Given the description of an element on the screen output the (x, y) to click on. 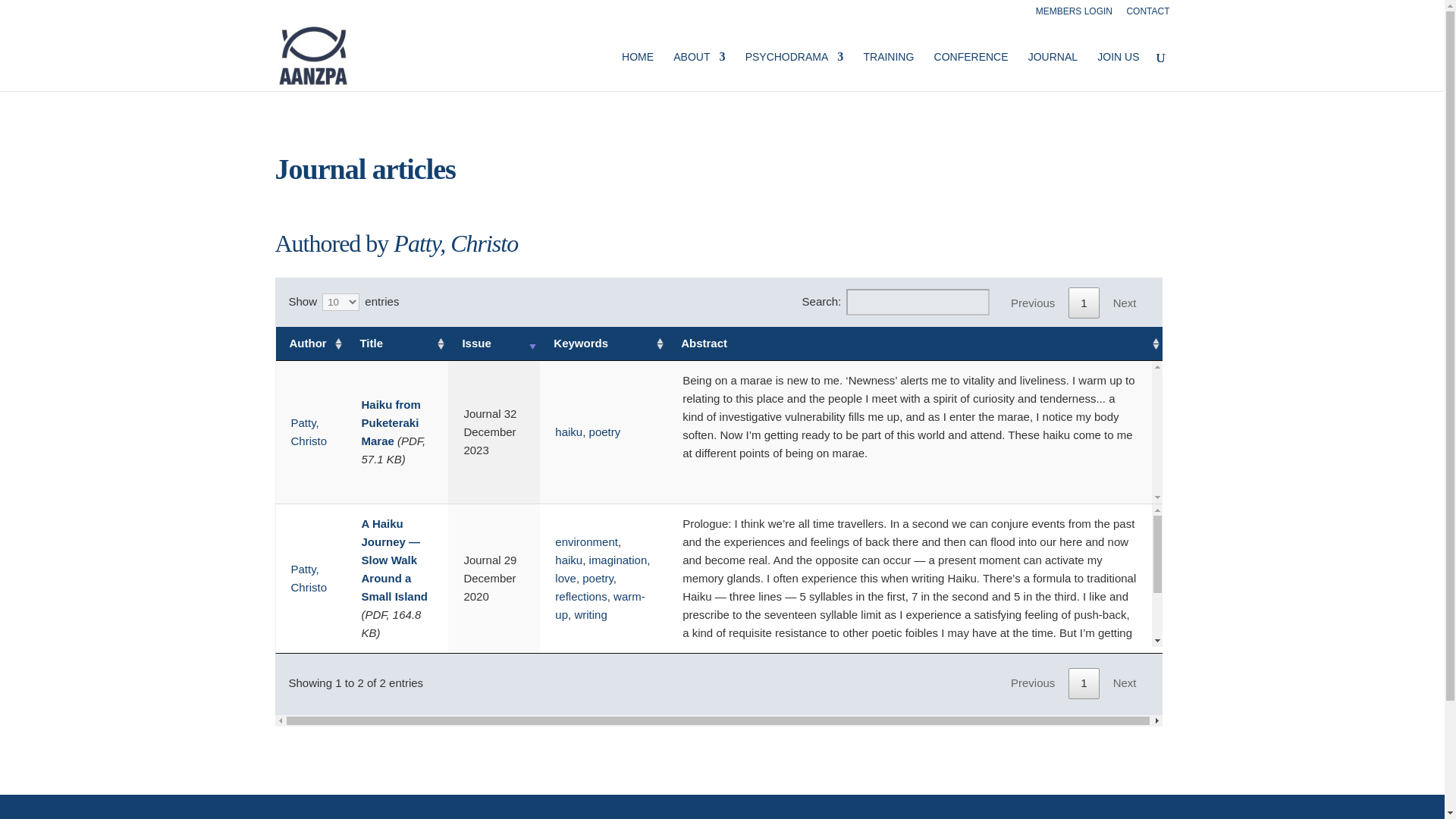
JOIN US (1117, 70)
MEMBERS LOGIN (1073, 14)
JOURNAL (1052, 70)
CONFERENCE (971, 70)
TRAINING (888, 70)
PSYCHODRAMA (794, 70)
CONTACT (1147, 14)
ABOUT (698, 70)
